Given the description of an element on the screen output the (x, y) to click on. 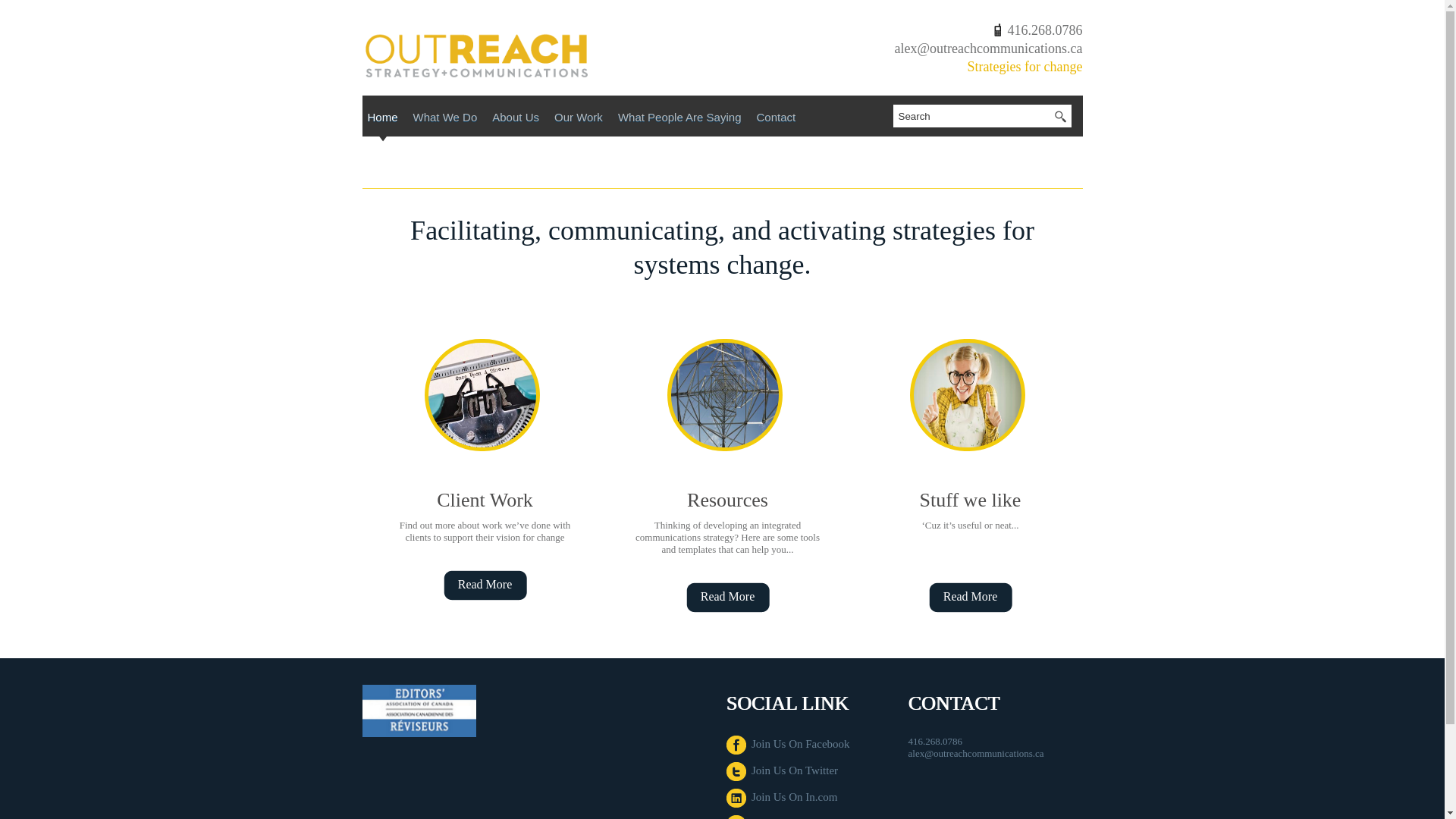
Resources (727, 499)
What We Do (445, 120)
Read More (484, 585)
About Us (515, 120)
Home (381, 120)
Stuff we like (971, 499)
Client Work (484, 499)
  Subscribe to Our Blog (789, 818)
  Join Us On Twitter (782, 770)
Read More (726, 596)
What People Are Saying (679, 120)
Search (971, 115)
Our Work (578, 120)
  Join Us On Facebook (788, 743)
Contact (775, 120)
